Given the description of an element on the screen output the (x, y) to click on. 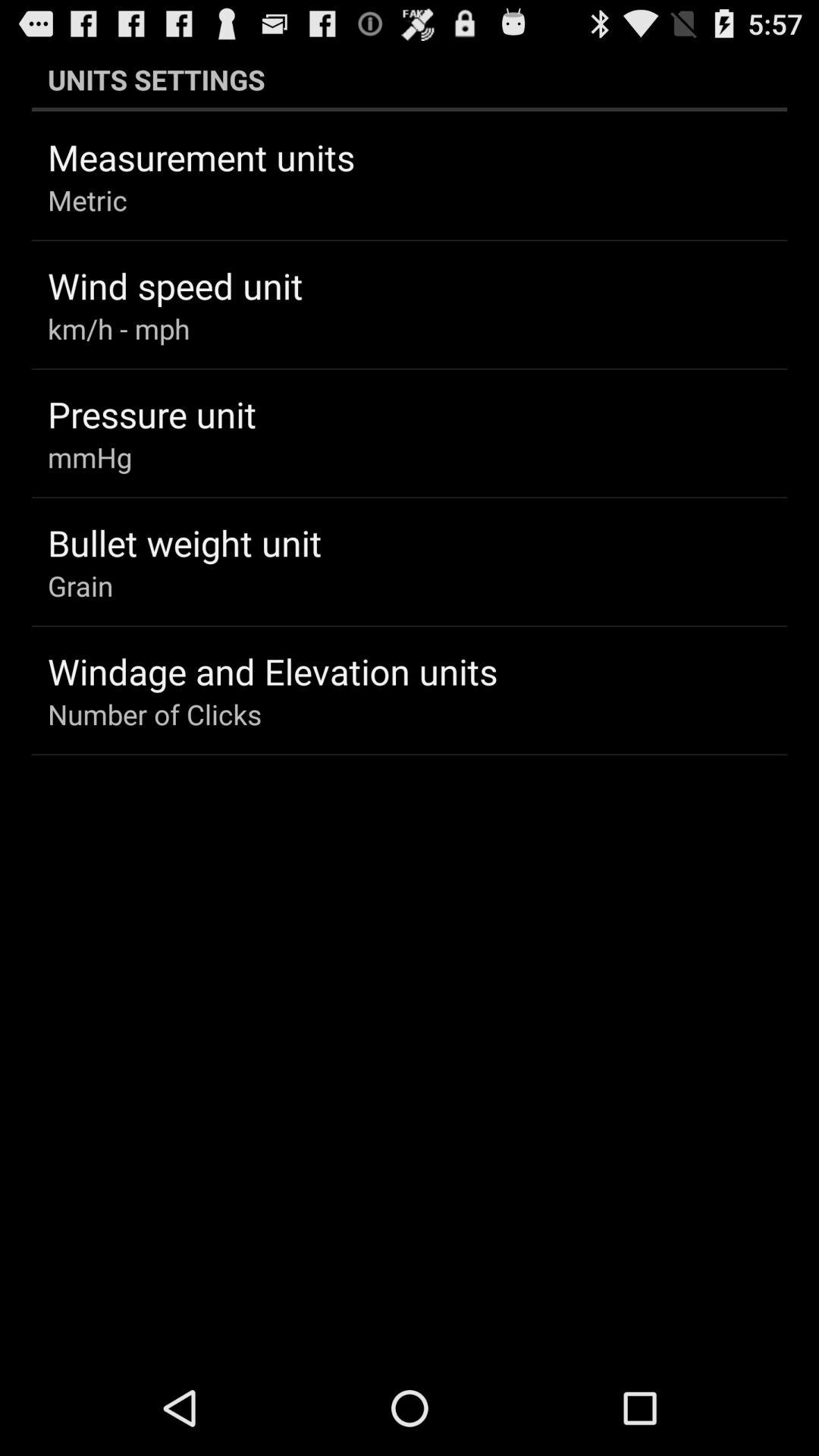
click the app at the top (409, 79)
